Given the description of an element on the screen output the (x, y) to click on. 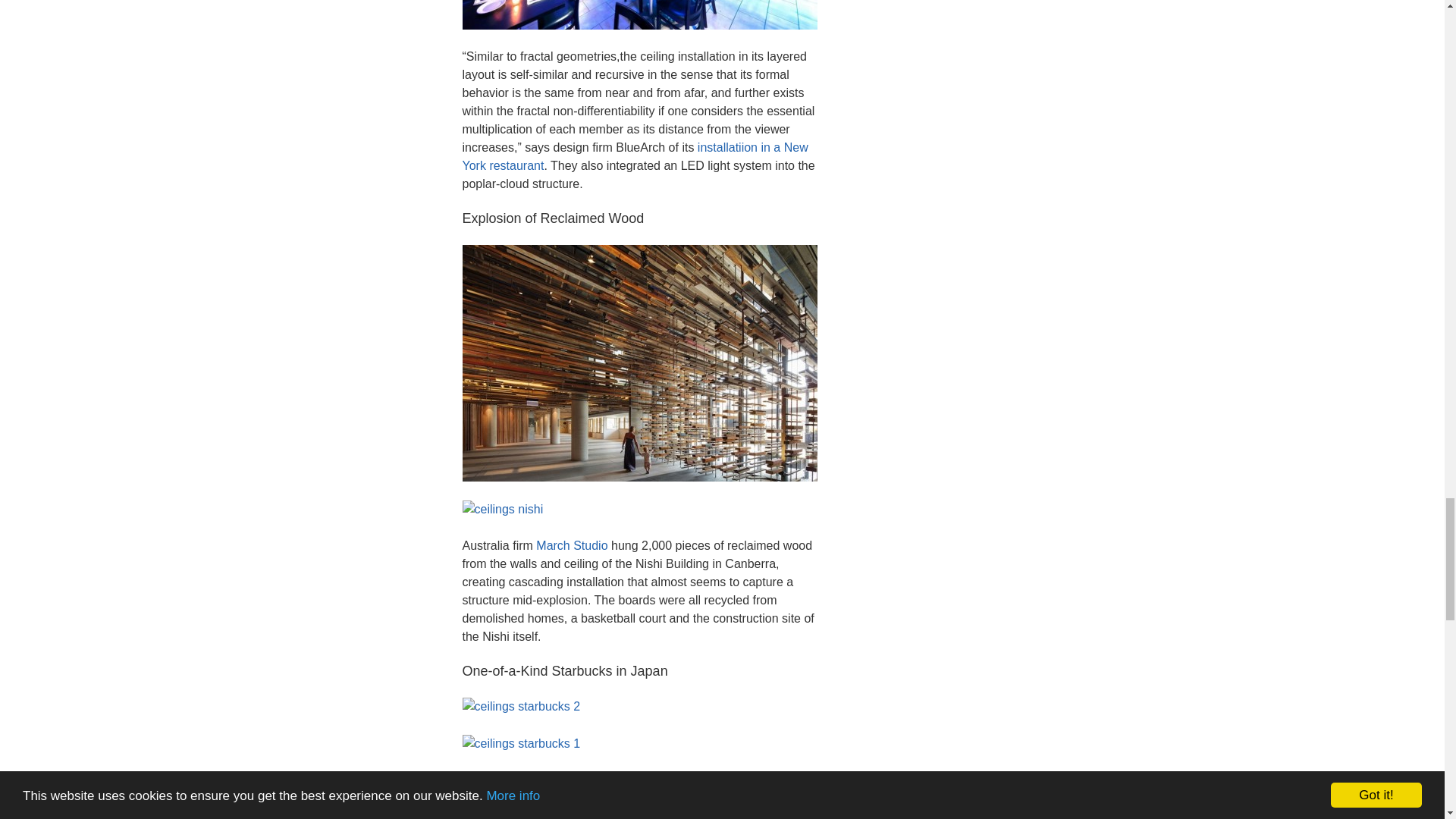
March Studio (573, 545)
Kengo Kuma and Associates c (598, 814)
installatiion in a New York restaurant (635, 155)
